Given the description of an element on the screen output the (x, y) to click on. 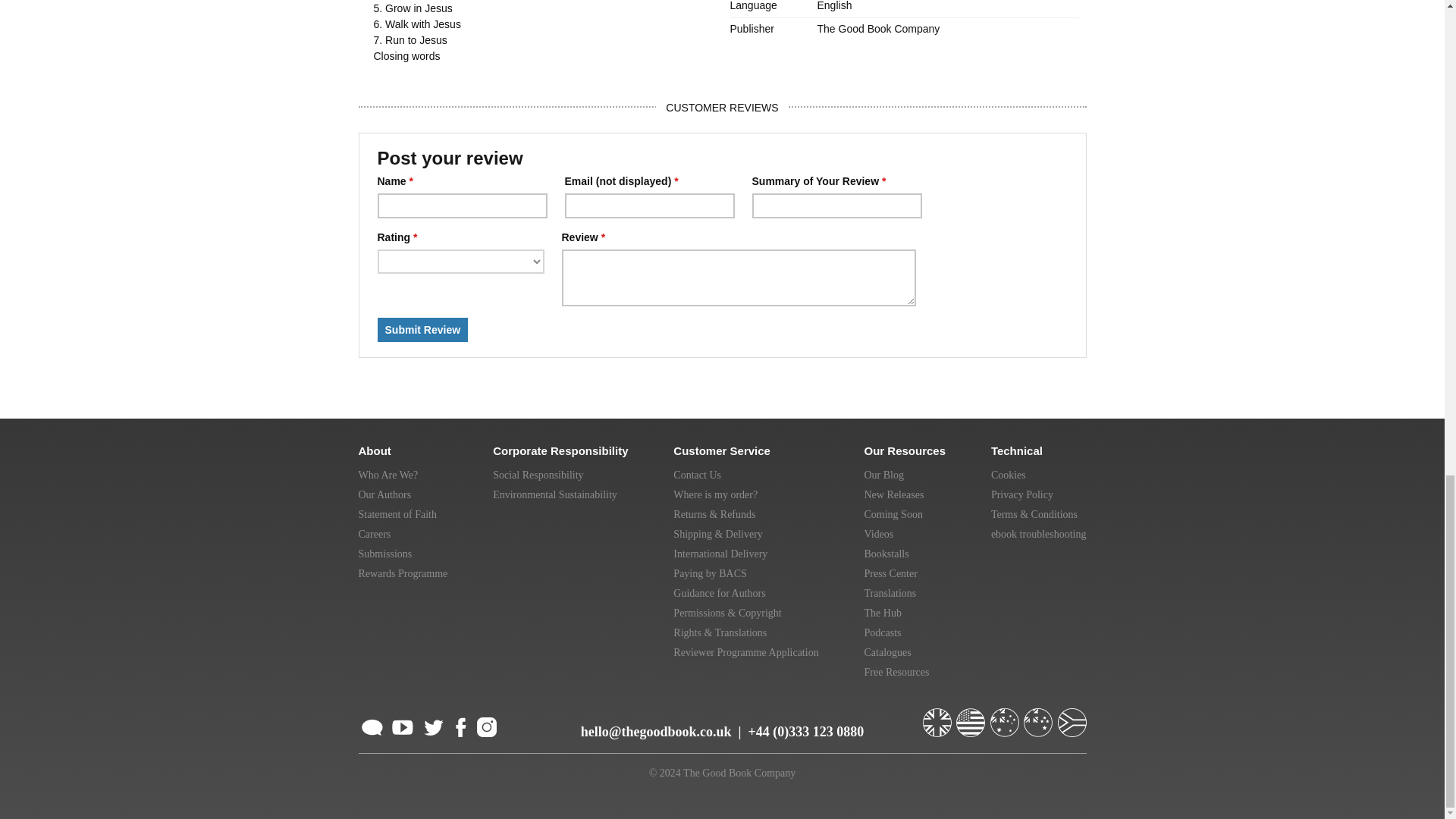
Go to New Zealand Website (1039, 715)
Subscribe to feed (371, 725)
Go to South Africa Website (1071, 715)
Go to Australia Website (1006, 715)
Go to UK Website (937, 715)
Submit Review (422, 329)
Go to US Website (972, 715)
